Given the description of an element on the screen output the (x, y) to click on. 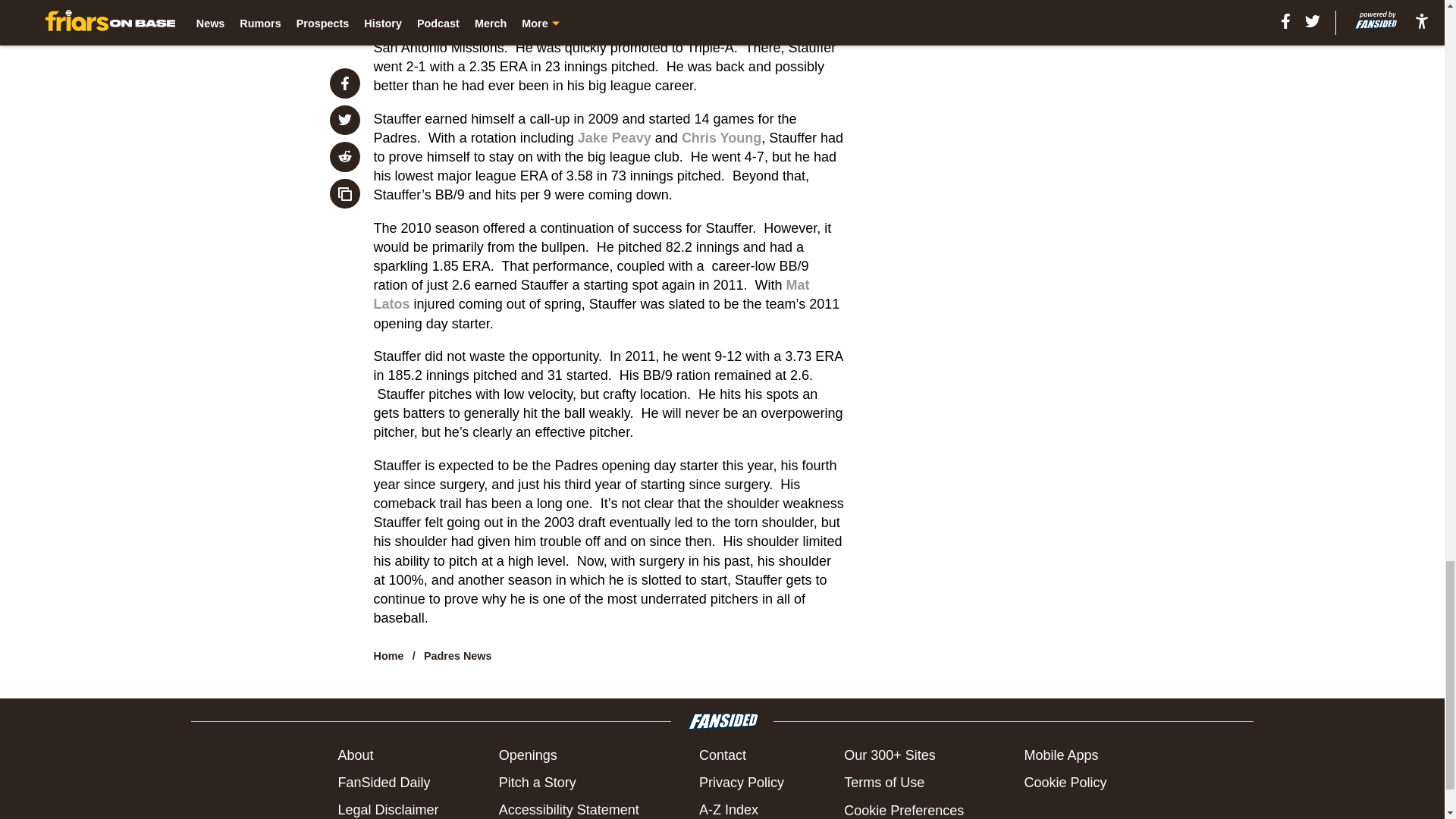
Jake Peavy (614, 137)
Padres News (457, 655)
Chris Young (721, 137)
About (354, 754)
Home (389, 655)
Mat Latos (591, 294)
